Given the description of an element on the screen output the (x, y) to click on. 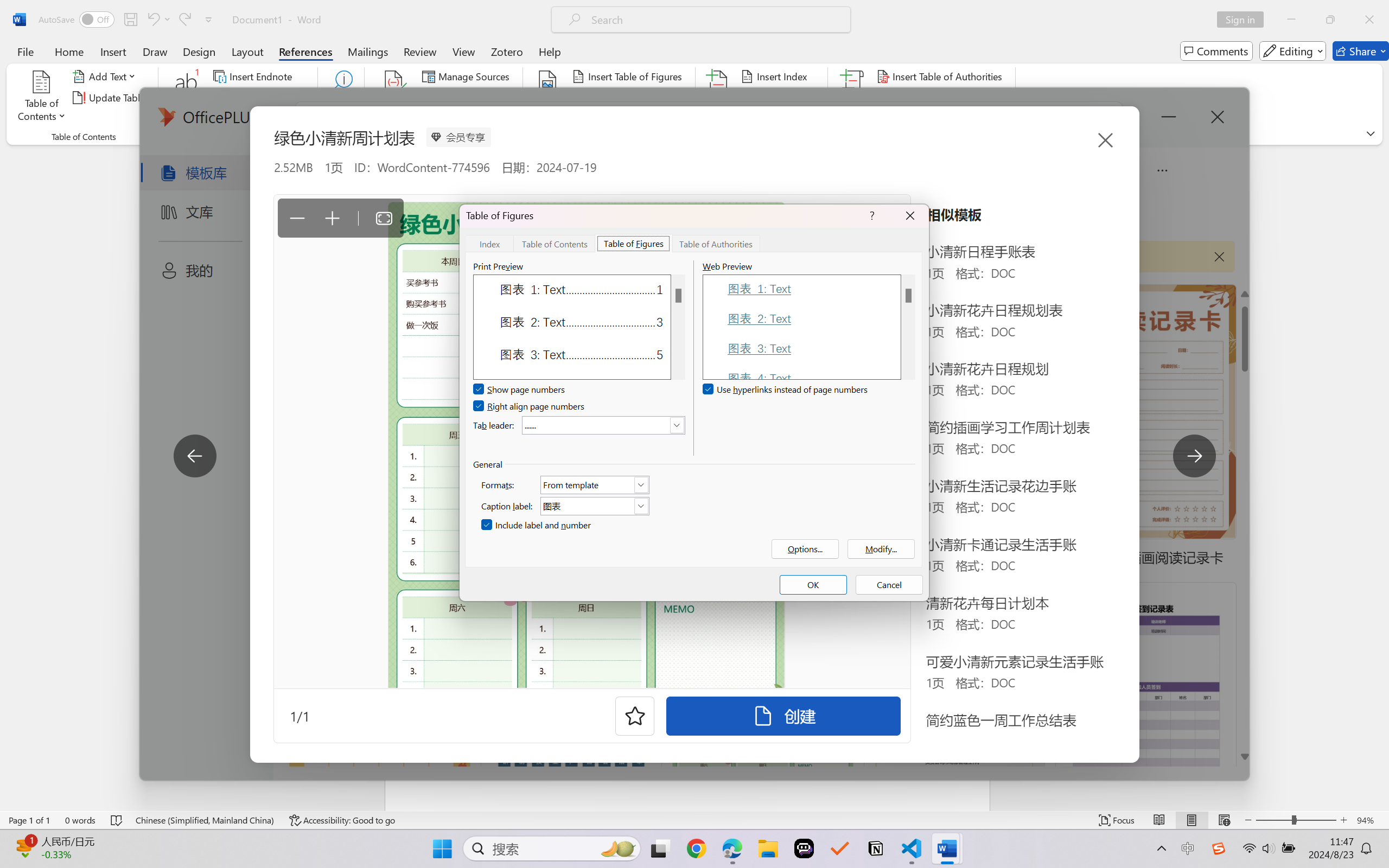
Update Table (914, 97)
Caption label: (595, 505)
